Given the description of an element on the screen output the (x, y) to click on. 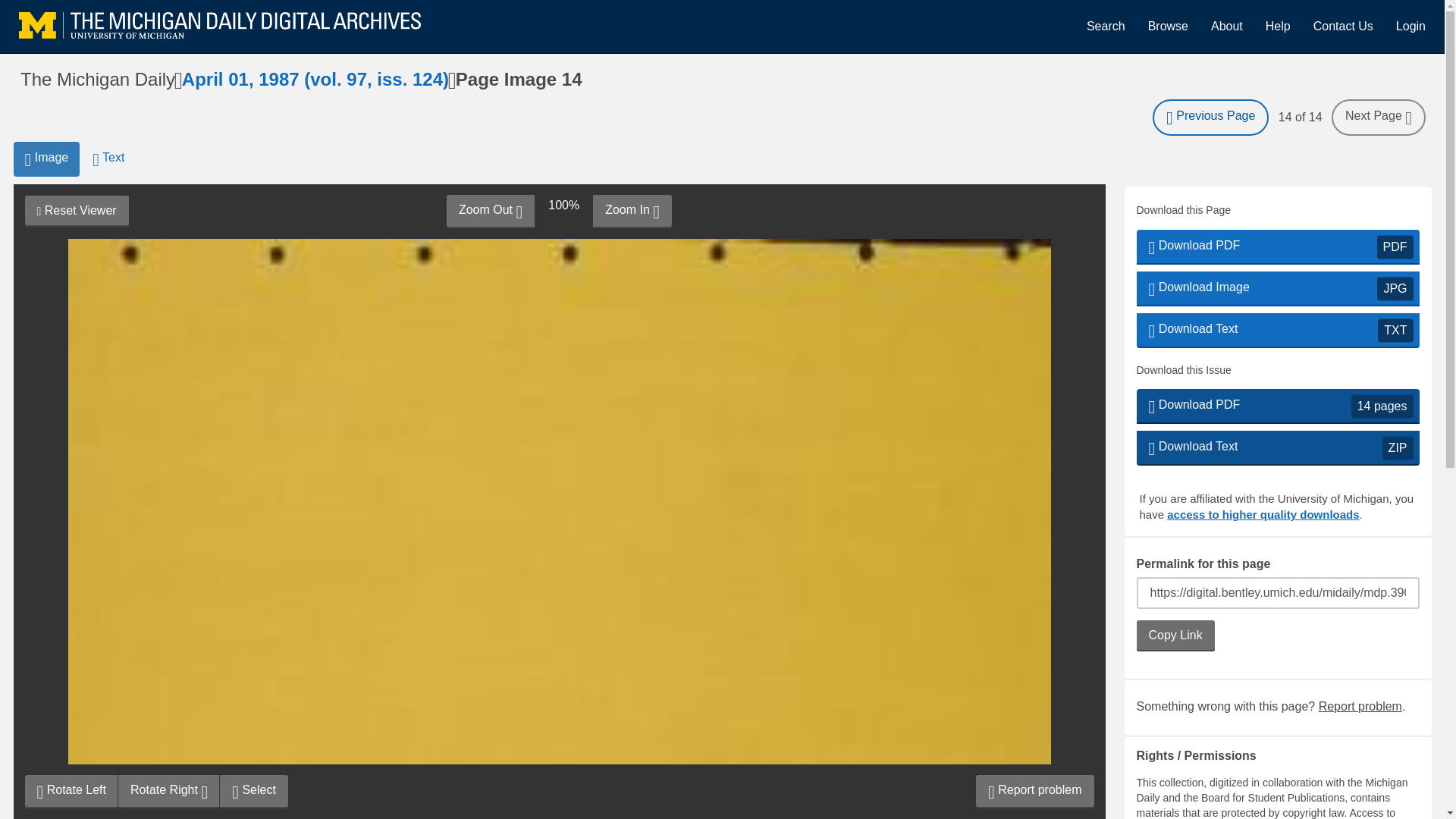
Help (1276, 288)
Contact Us (1277, 26)
Login (1276, 448)
Copy Link (1342, 26)
Rotate Left (1410, 26)
Search (1174, 635)
About (70, 791)
Reset Viewer (1106, 26)
Report problem (1276, 330)
Rotate Right (1226, 26)
Zoom Out (76, 210)
Browse (1360, 706)
